Given the description of an element on the screen output the (x, y) to click on. 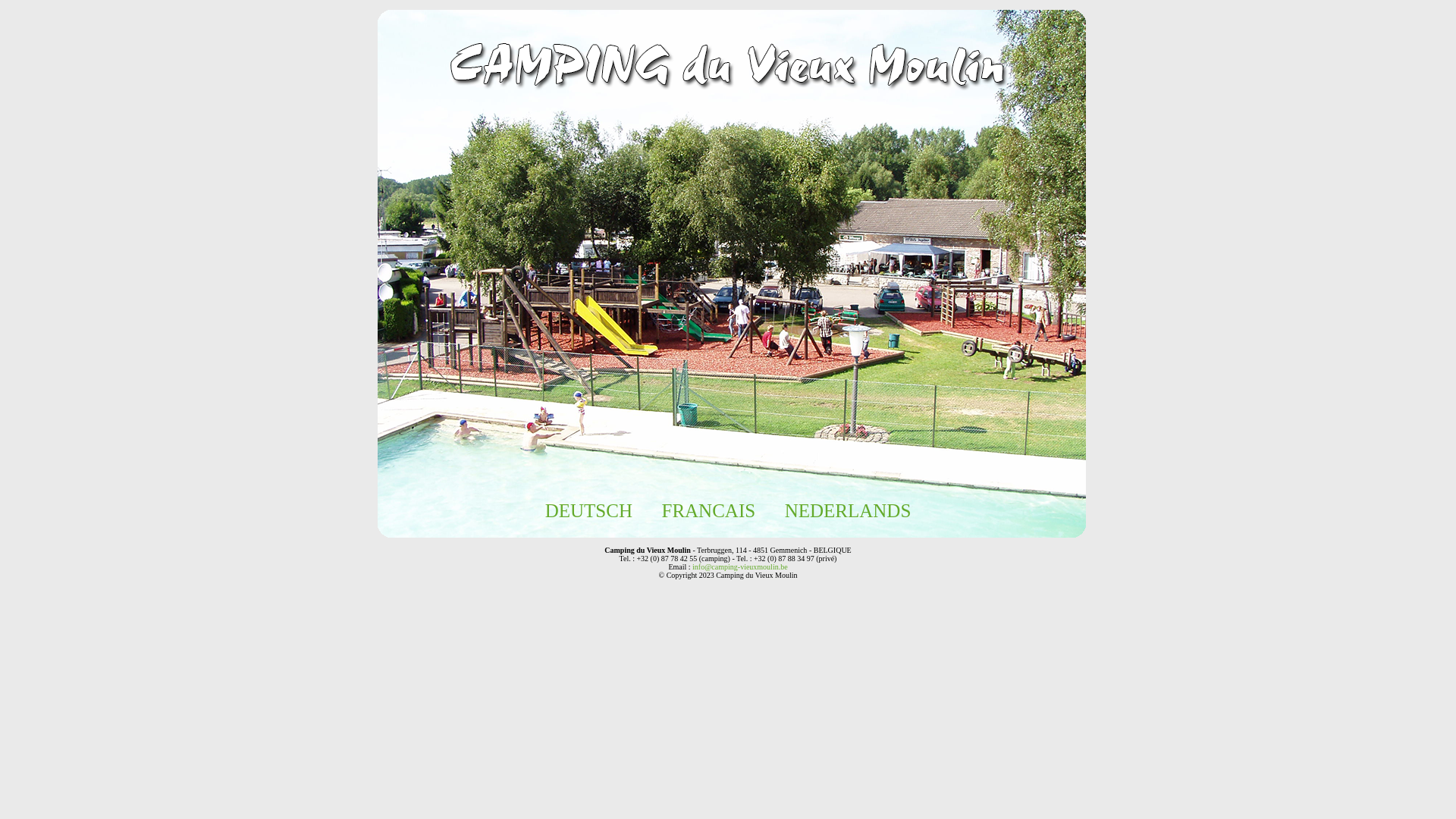
FRANCAIS Element type: text (708, 510)
DEUTSCH Element type: text (588, 510)
NEDERLANDS Element type: text (847, 510)
info@camping-vieuxmoulin.be Element type: text (739, 566)
